Given the description of an element on the screen output the (x, y) to click on. 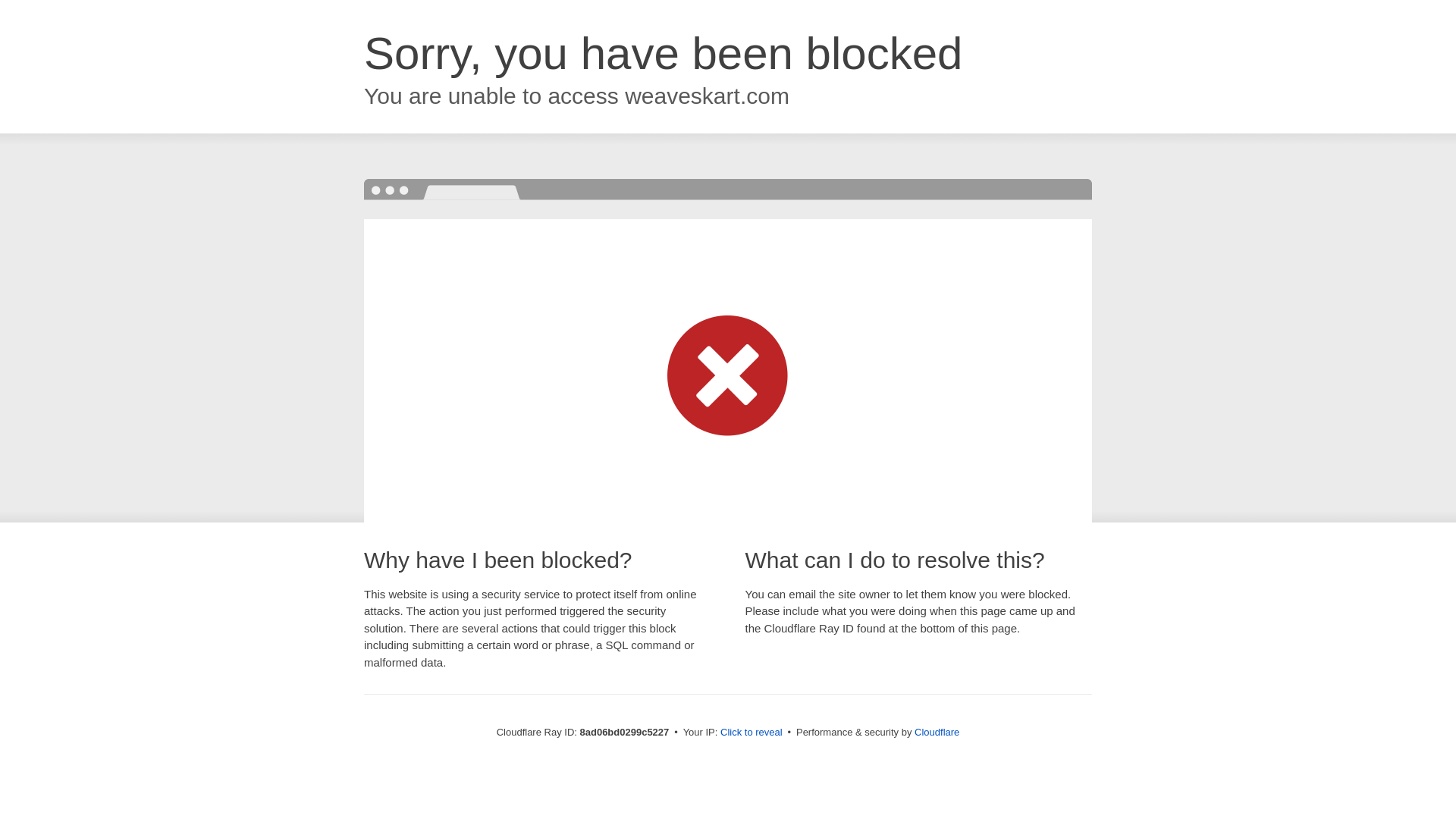
Click to reveal (751, 732)
Cloudflare (936, 731)
